Given the description of an element on the screen output the (x, y) to click on. 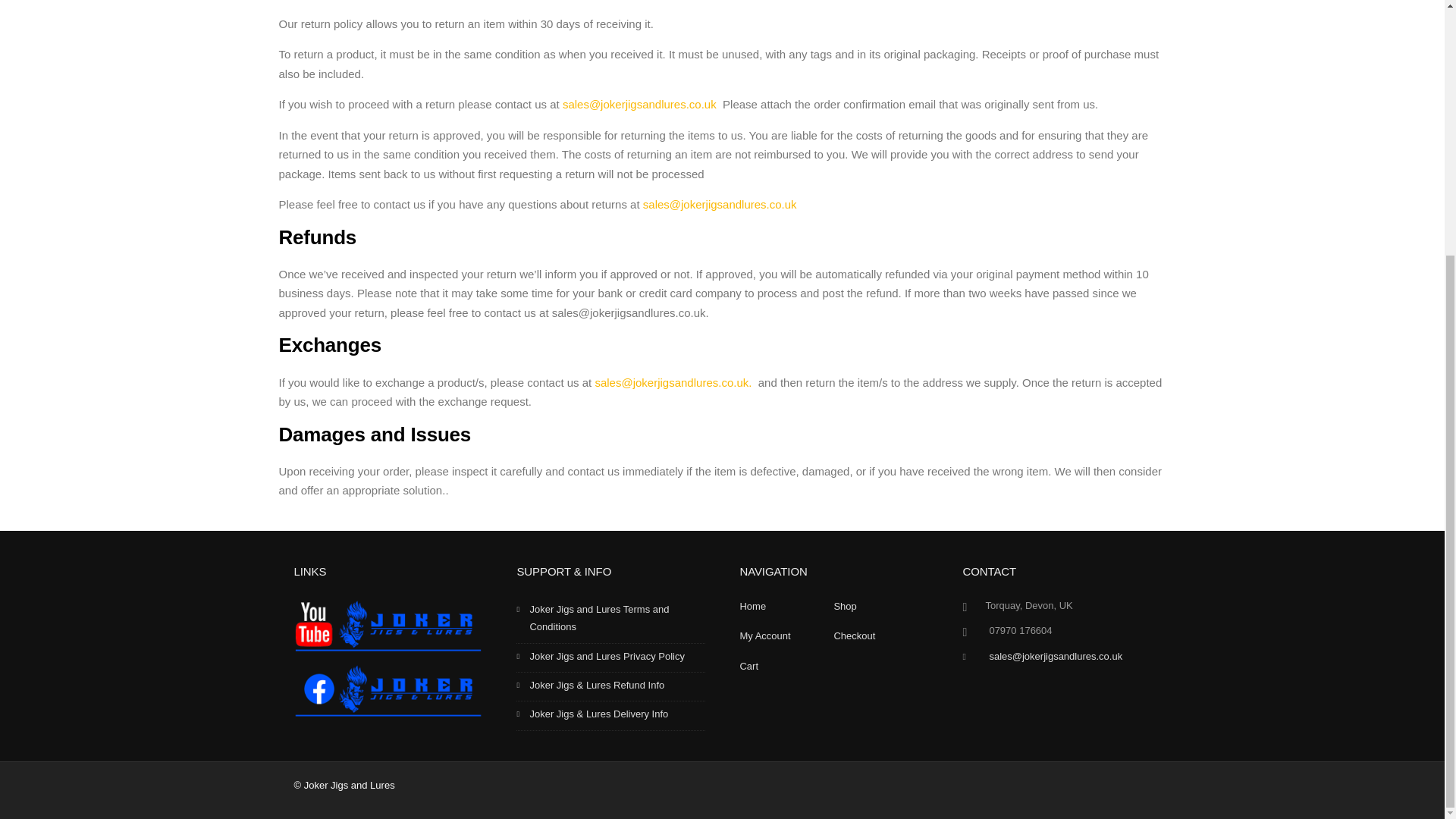
Cart (748, 665)
Joker Jigs and Lures Privacy Policy (610, 657)
My Account (764, 635)
Shop (844, 605)
Checkout (853, 635)
Home (752, 605)
Joker Jigs and Lures Terms and Conditions (610, 620)
